Given the description of an element on the screen output the (x, y) to click on. 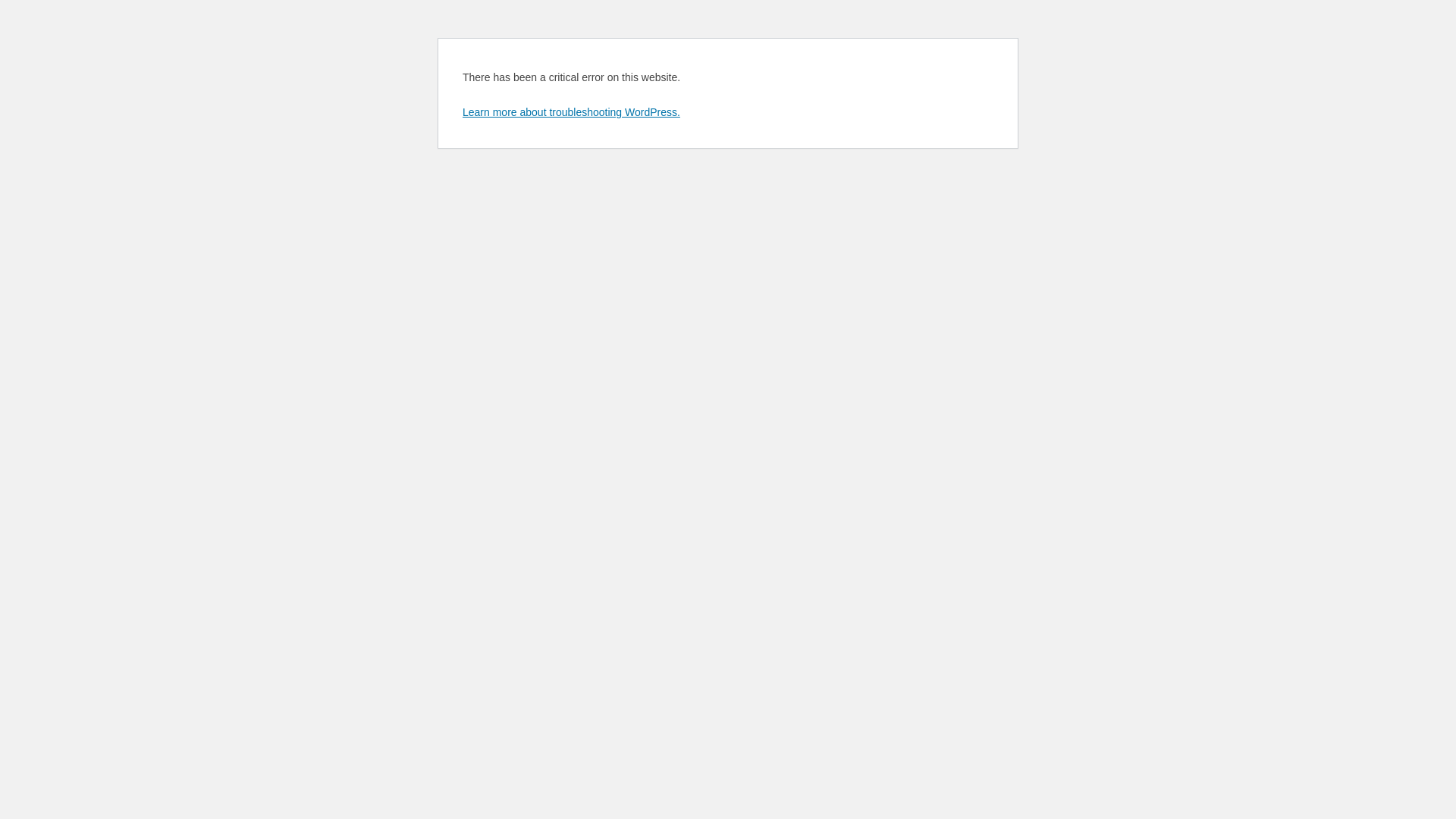
Learn more about troubleshooting WordPress. Element type: text (571, 112)
